Given the description of an element on the screen output the (x, y) to click on. 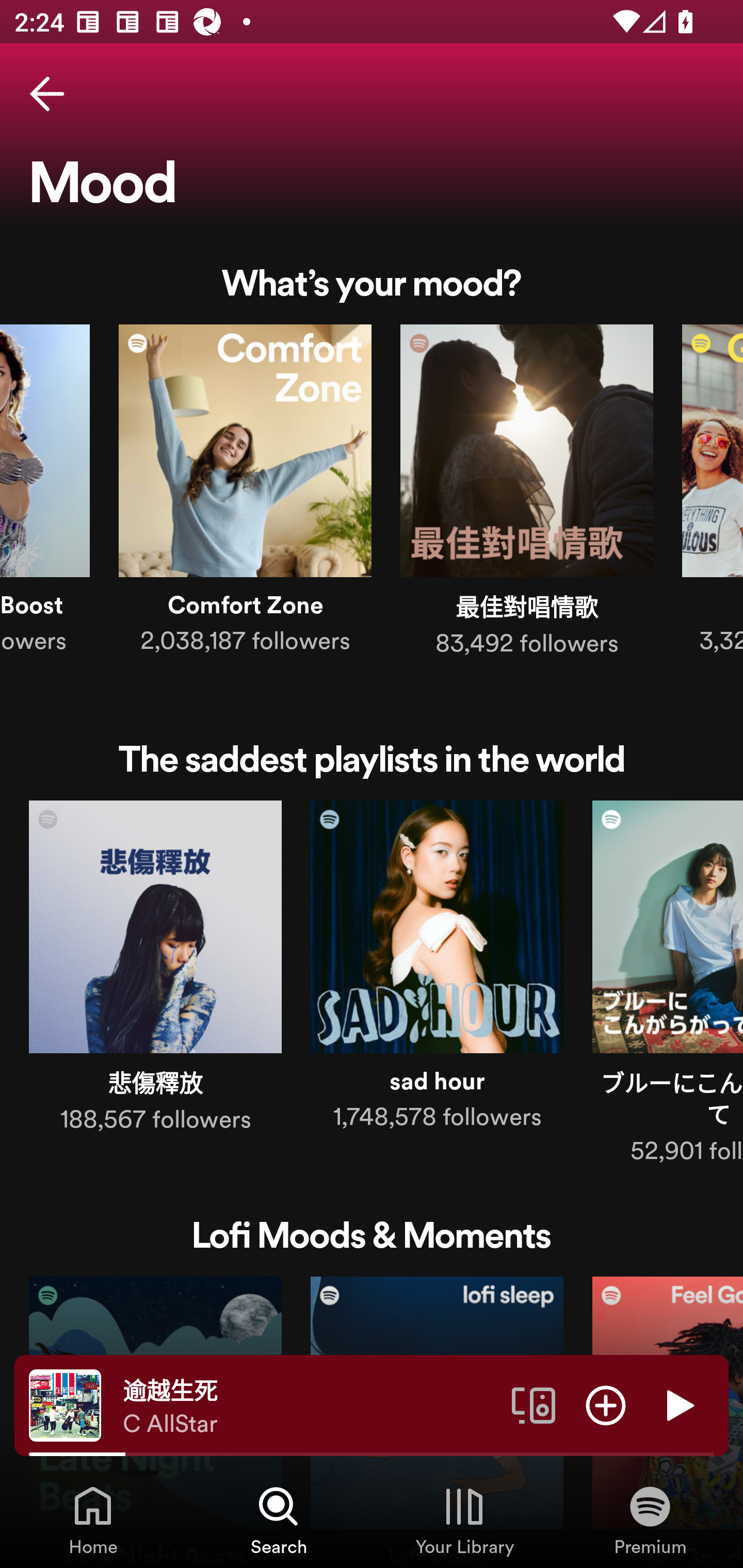
Back (46, 93)
最佳對唱情歌
83,492 followers 最佳對唱情歌 83,492 followers (526, 494)
悲傷釋放
188,567 followers 悲傷釋放 188,567 followers (154, 971)
逾越生死 C AllStar (309, 1405)
The cover art of the currently playing track (64, 1404)
Connect to a device. Opens the devices menu (533, 1404)
Add item (605, 1404)
Play (677, 1404)
Home, Tab 1 of 4 Home Home (92, 1519)
Search, Tab 2 of 4 Search Search (278, 1519)
Your Library, Tab 3 of 4 Your Library Your Library (464, 1519)
Premium, Tab 4 of 4 Premium Premium (650, 1519)
